Given the description of an element on the screen output the (x, y) to click on. 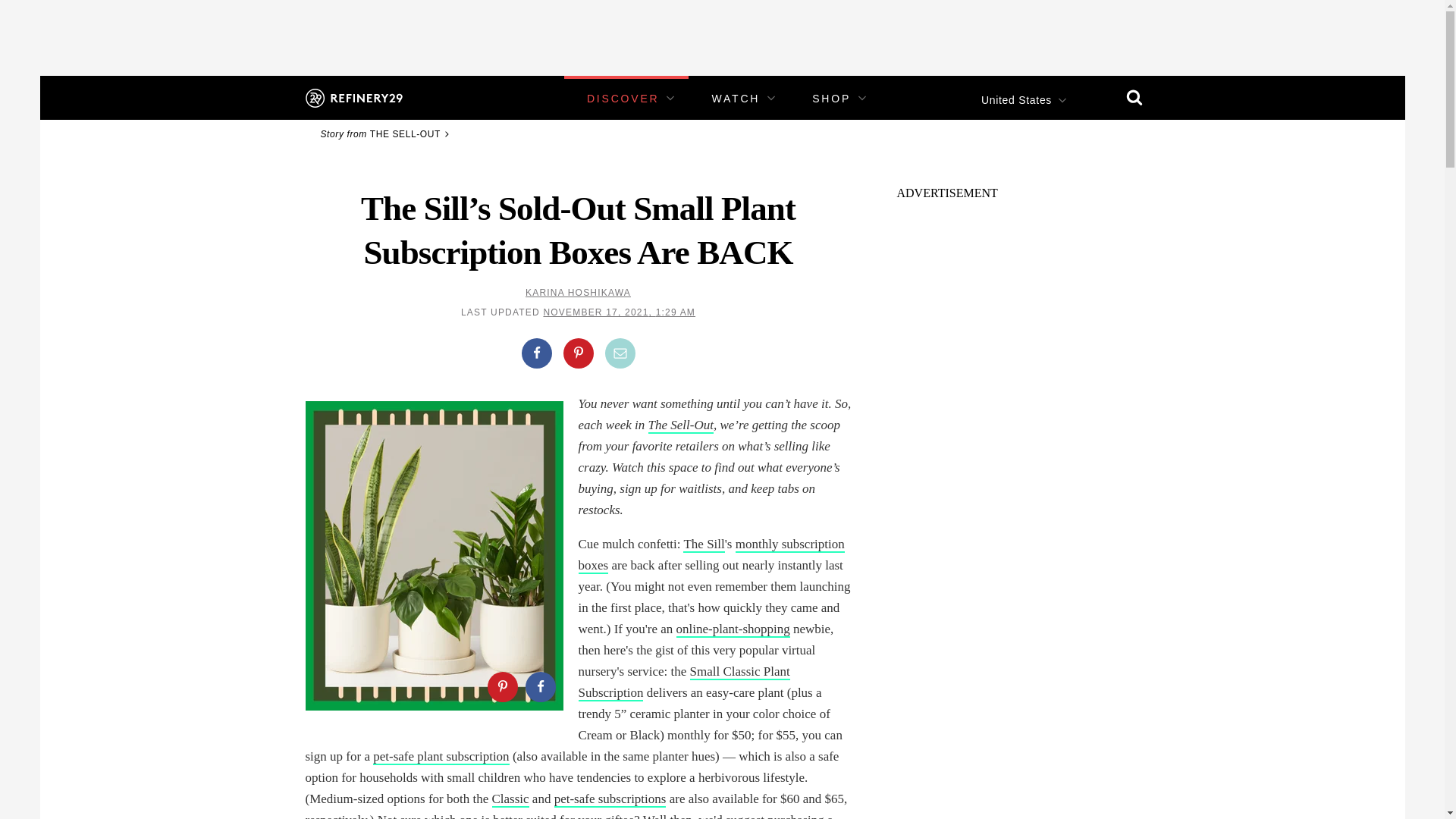
WATCH (735, 98)
The Sill (702, 544)
monthly subscription boxes (711, 555)
SHOP (831, 98)
Classic (510, 799)
Share on Pinterest (577, 353)
DISCOVER (622, 98)
Share by Email (619, 353)
The Sell-Out (680, 425)
KARINA HOSHIKAWA (577, 292)
Share on Facebook (536, 353)
Story from THE SELL-OUT (387, 133)
Refinery29 (352, 97)
Share on Pinterest (501, 686)
Small Classic Plant Subscription (683, 682)
